Given the description of an element on the screen output the (x, y) to click on. 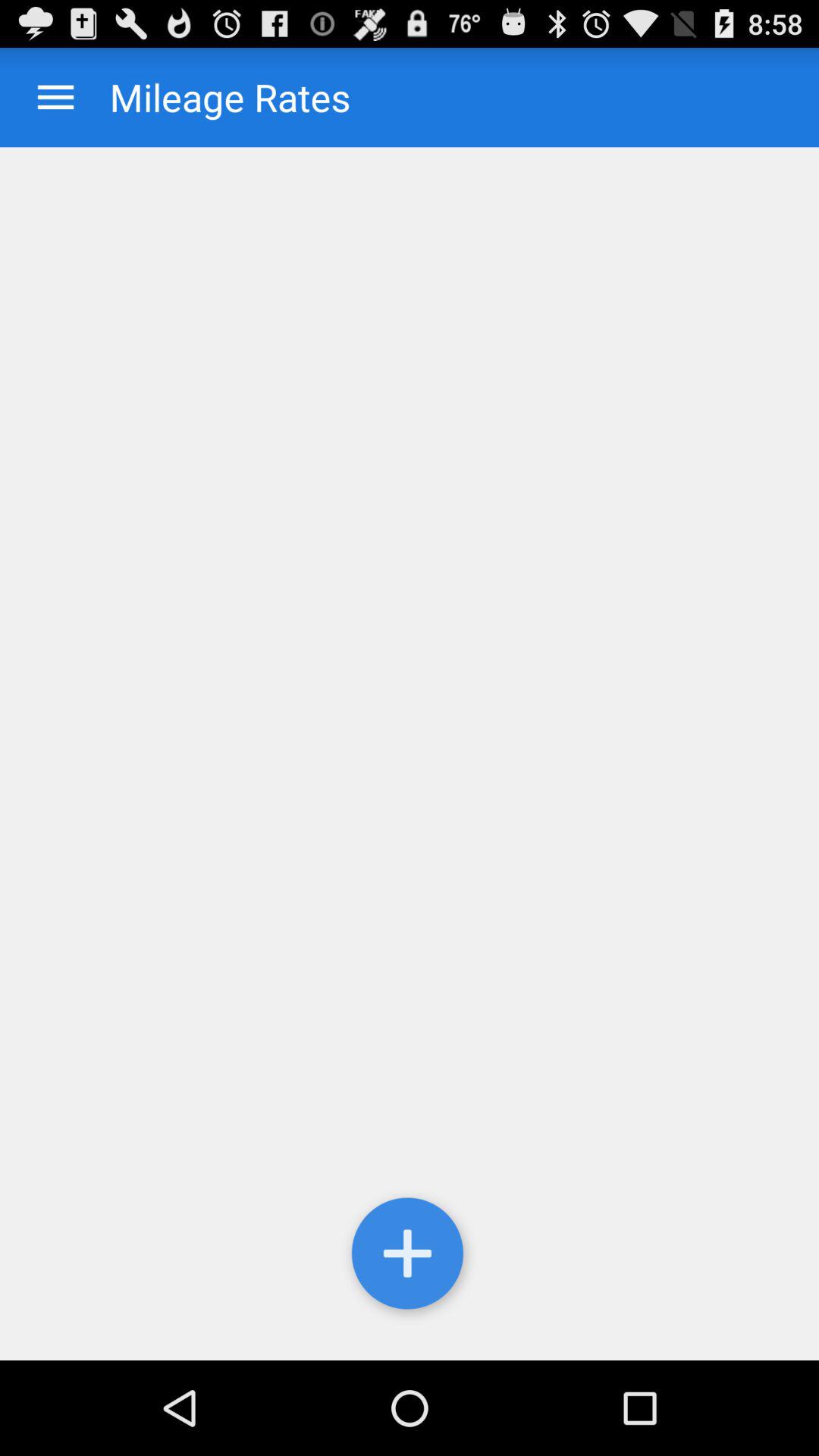
launch the mileage rates icon (214, 96)
